Given the description of an element on the screen output the (x, y) to click on. 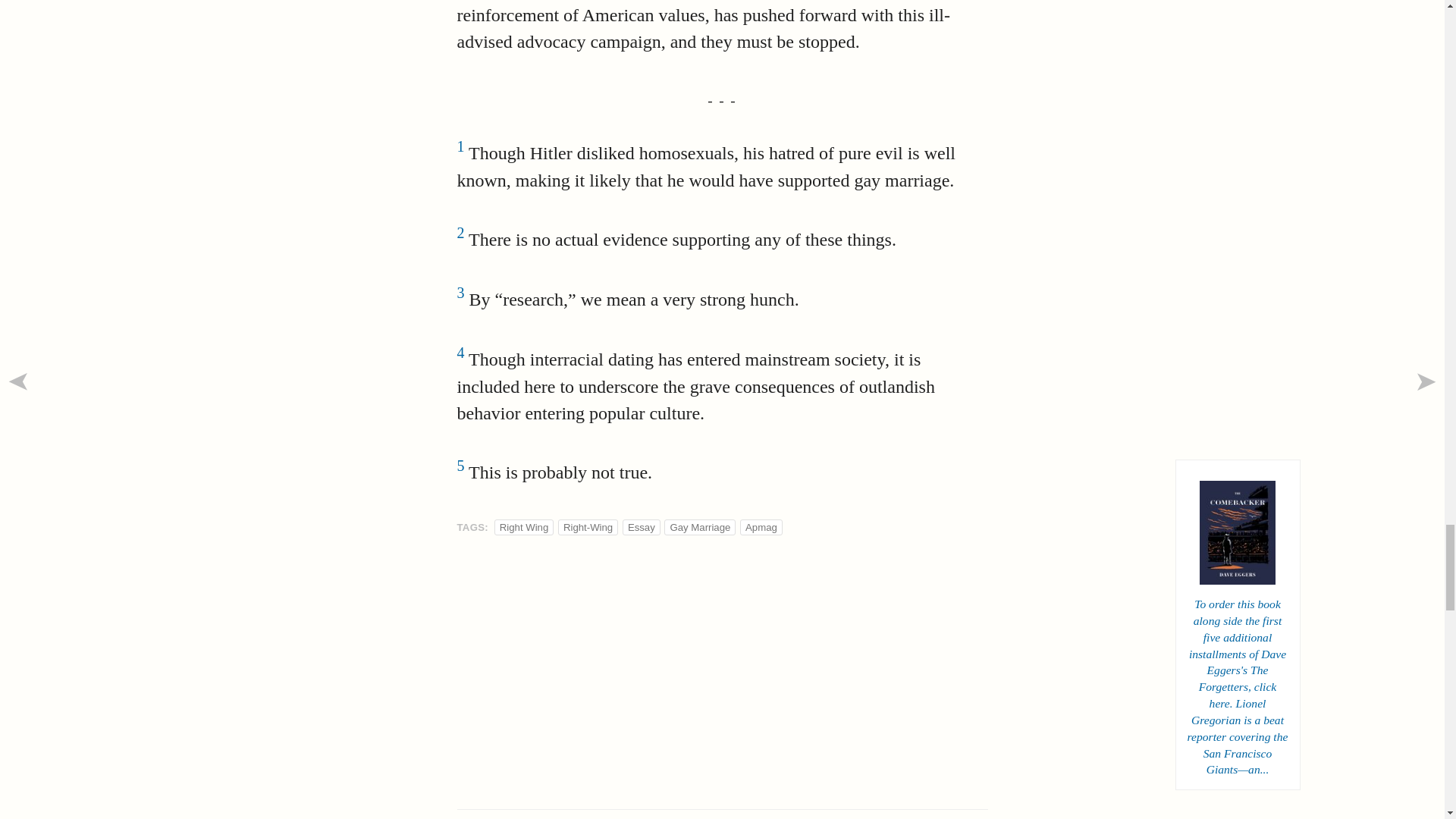
Essay (641, 527)
1 (460, 152)
Right-Wing (587, 527)
5 (460, 472)
Gay Marriage (699, 527)
4 (460, 359)
2 (460, 239)
3 (460, 299)
Right Wing (523, 527)
